Given the description of an element on the screen output the (x, y) to click on. 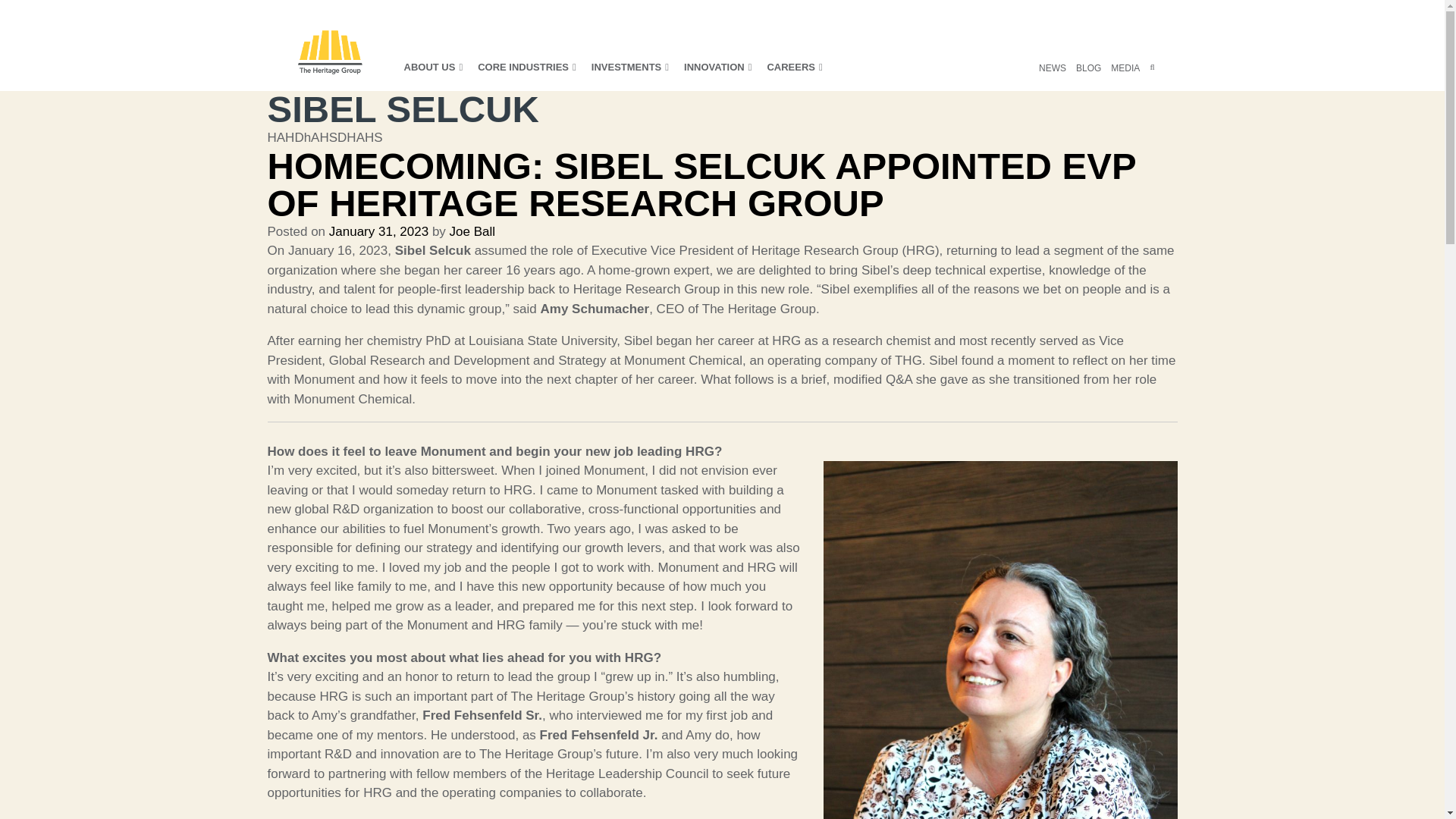
NEWS (1052, 75)
INVESTMENTS (629, 74)
9:51 am (378, 231)
INNOVATION (717, 74)
CORE INDUSTRIES (526, 74)
January 31, 2023 (378, 231)
MEDIA (1125, 75)
View all posts by Joe Ball (472, 231)
ABOUT US (433, 74)
BLOG (1087, 75)
Joe Ball (472, 231)
CAREERS (794, 74)
